Given the description of an element on the screen output the (x, y) to click on. 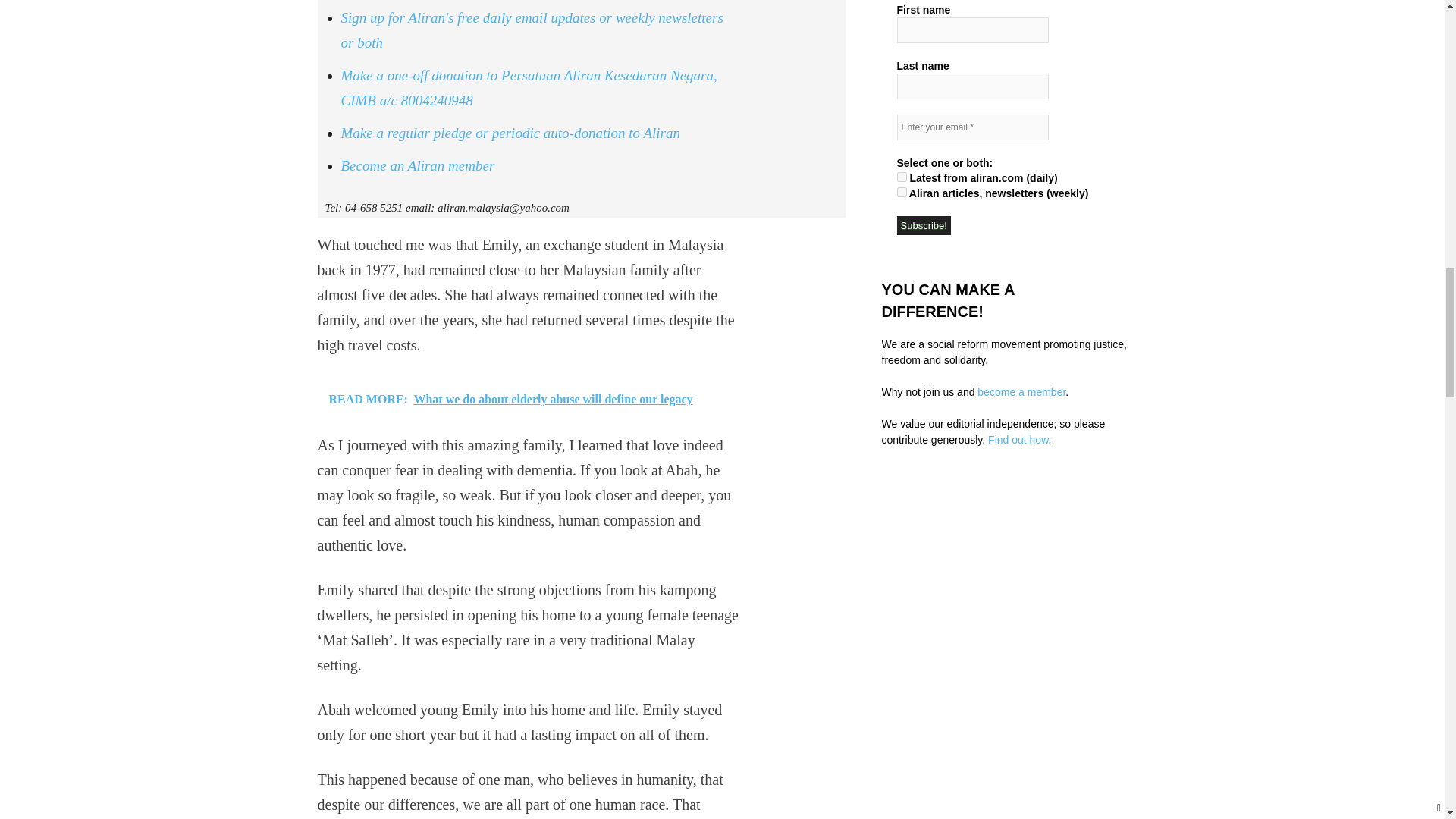
Subscribe! (923, 225)
3 (900, 176)
4 (900, 192)
